Given the description of an element on the screen output the (x, y) to click on. 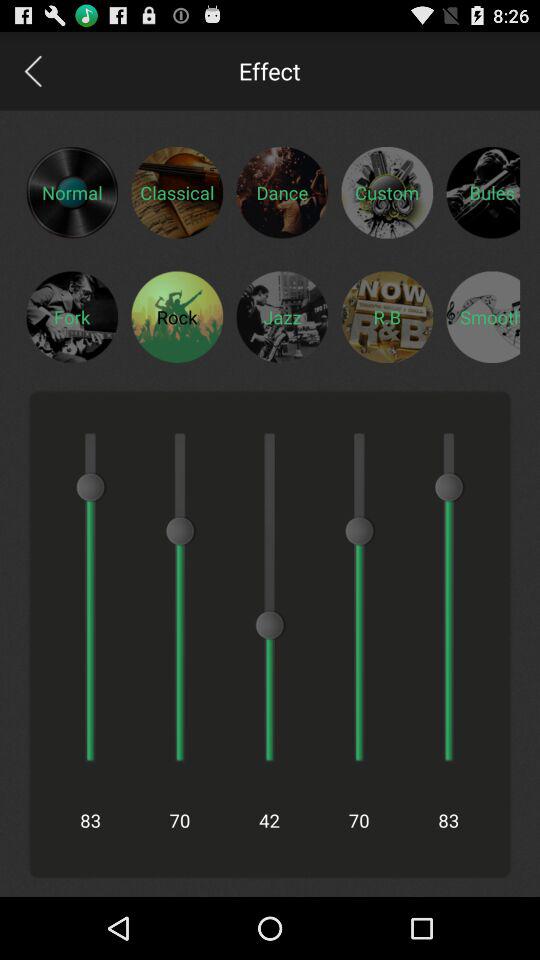
click dance effect (282, 191)
